Given the description of an element on the screen output the (x, y) to click on. 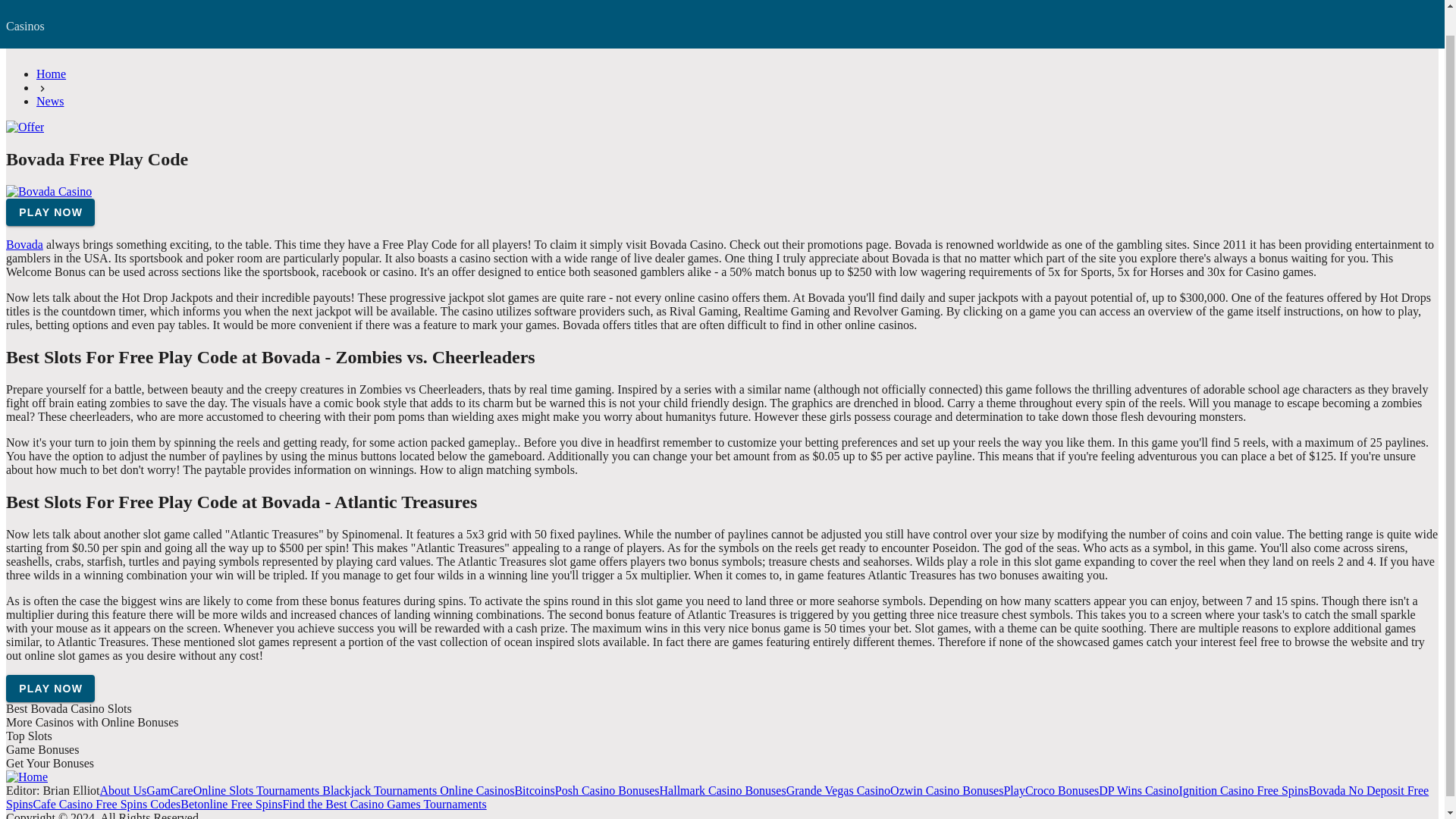
Casinos (63, 10)
PlayCroco Bonuses (1051, 789)
GamCare (169, 789)
About Us (123, 789)
Bovada No Deposit Free Spins (716, 796)
PLAY NOW (92, 3)
PLAY NOW (49, 212)
Ignition Casino Free Spins (1242, 789)
Bitcoins (533, 789)
Online Slots Tournaments (256, 789)
